Given the description of an element on the screen output the (x, y) to click on. 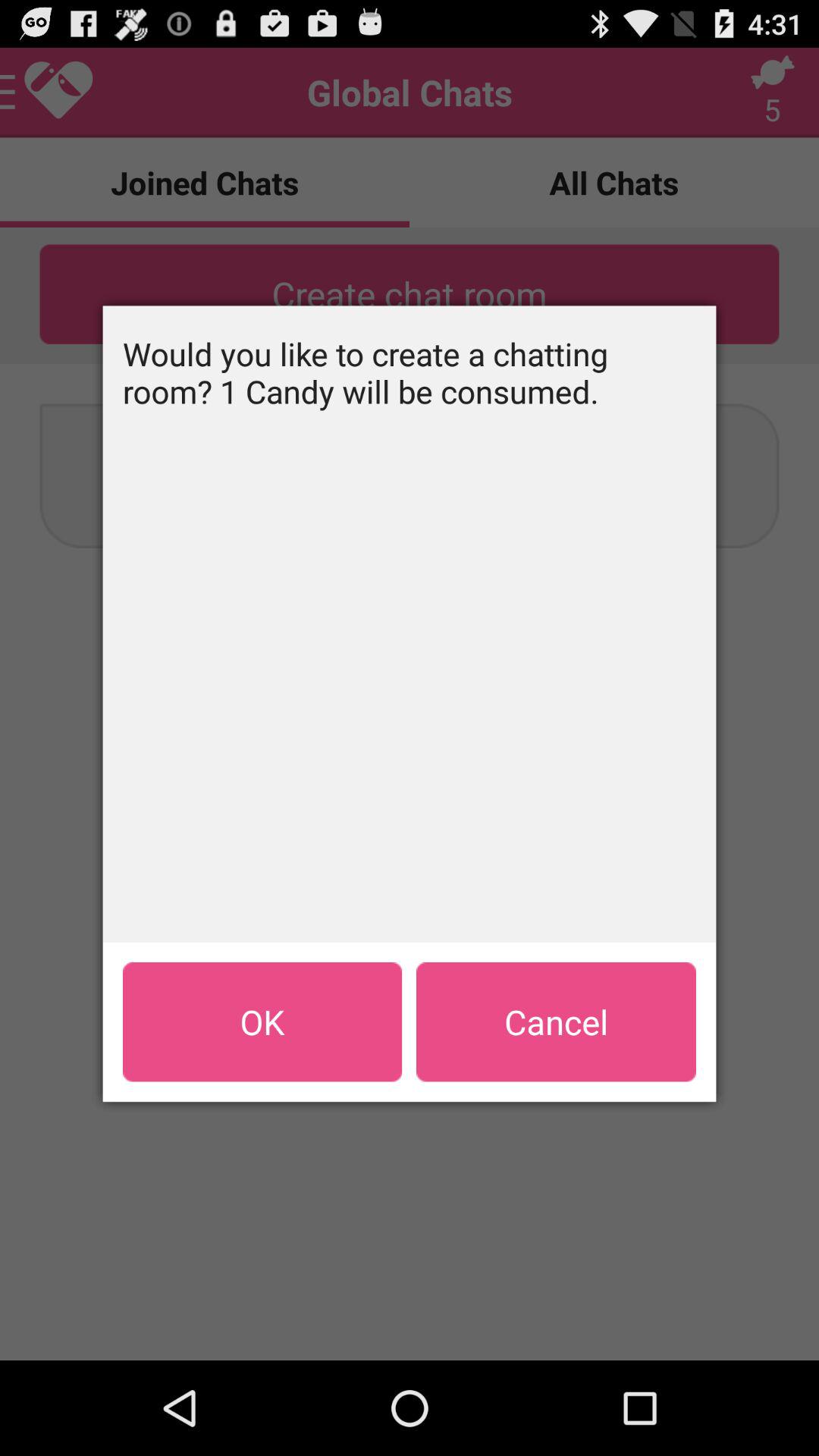
turn on the cancel (556, 1021)
